Given the description of an element on the screen output the (x, y) to click on. 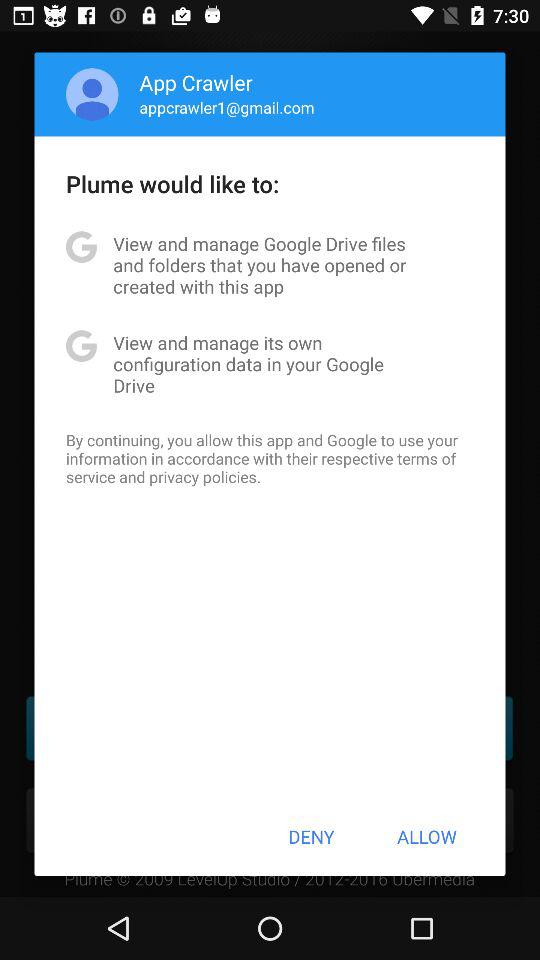
choose app below app crawler icon (226, 107)
